Given the description of an element on the screen output the (x, y) to click on. 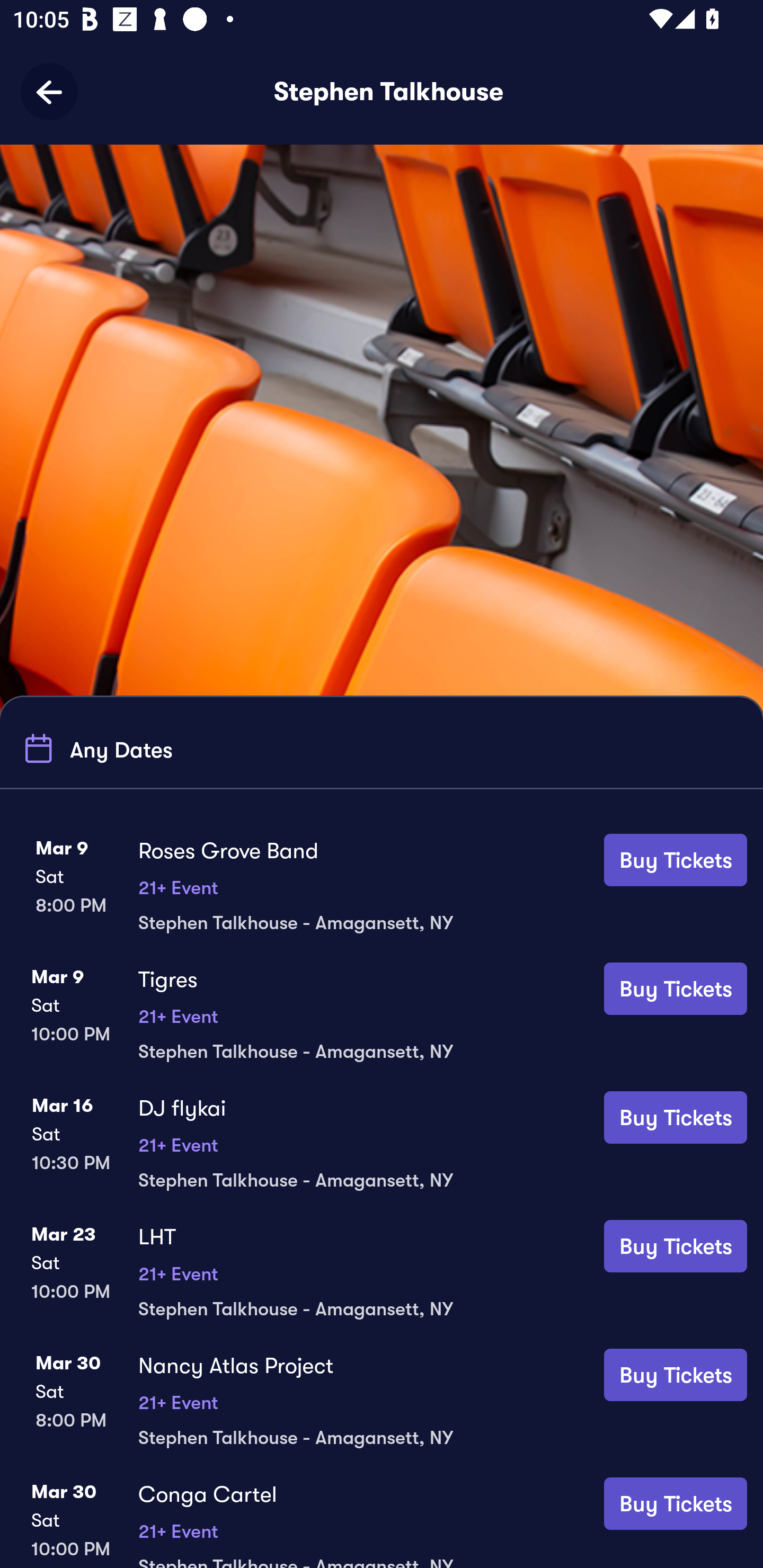
Any Dates (95, 749)
